Given the description of an element on the screen output the (x, y) to click on. 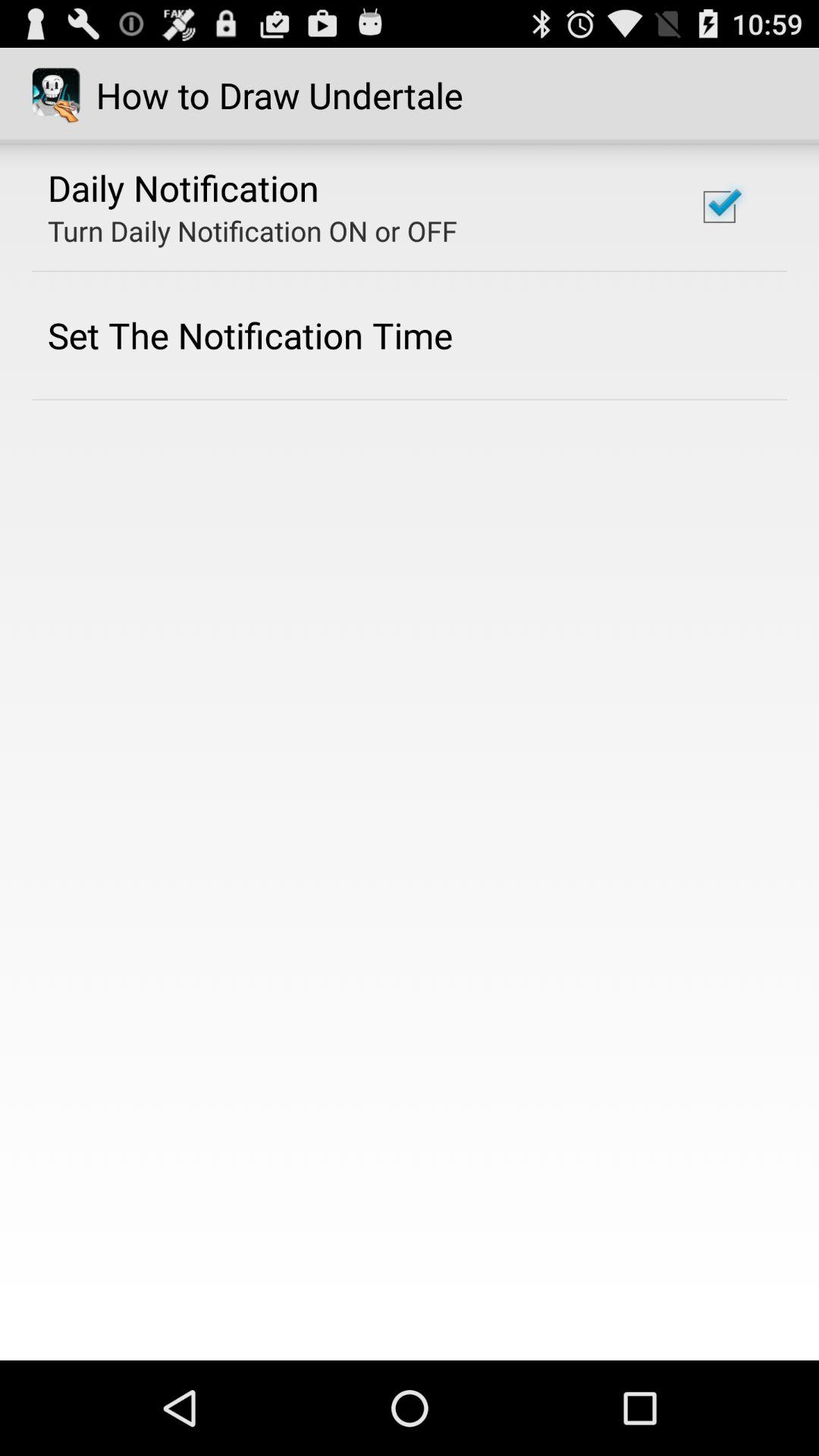
open the app next to the turn daily notification (719, 206)
